Given the description of an element on the screen output the (x, y) to click on. 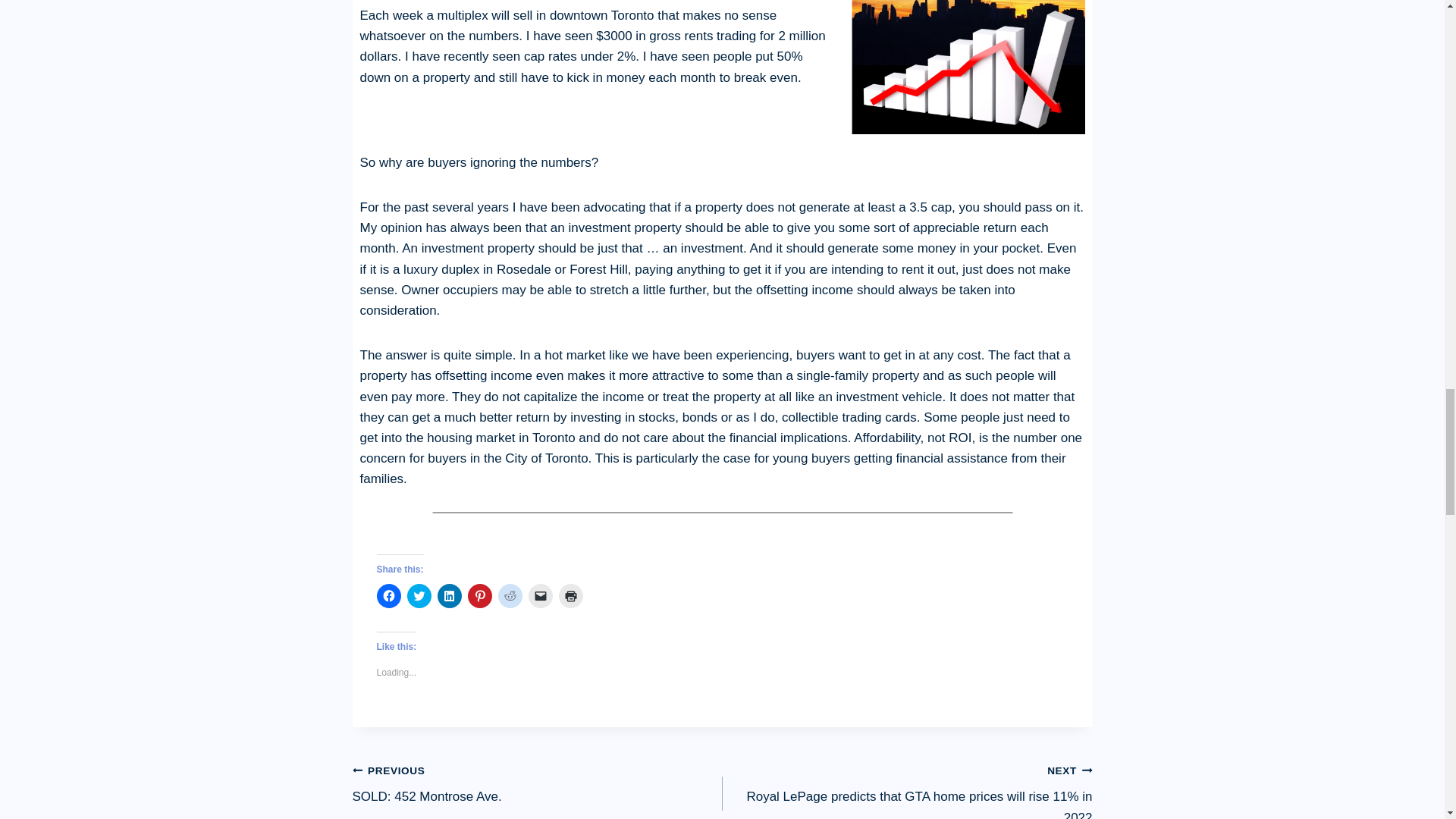
Click to share on Twitter (418, 595)
Click to share on LinkedIn (448, 595)
Click to share on Pinterest (479, 595)
Click to email a link to a friend (539, 595)
Click to share on Facebook (387, 595)
Click to share on Reddit (537, 783)
Click to print (509, 595)
